Given the description of an element on the screen output the (x, y) to click on. 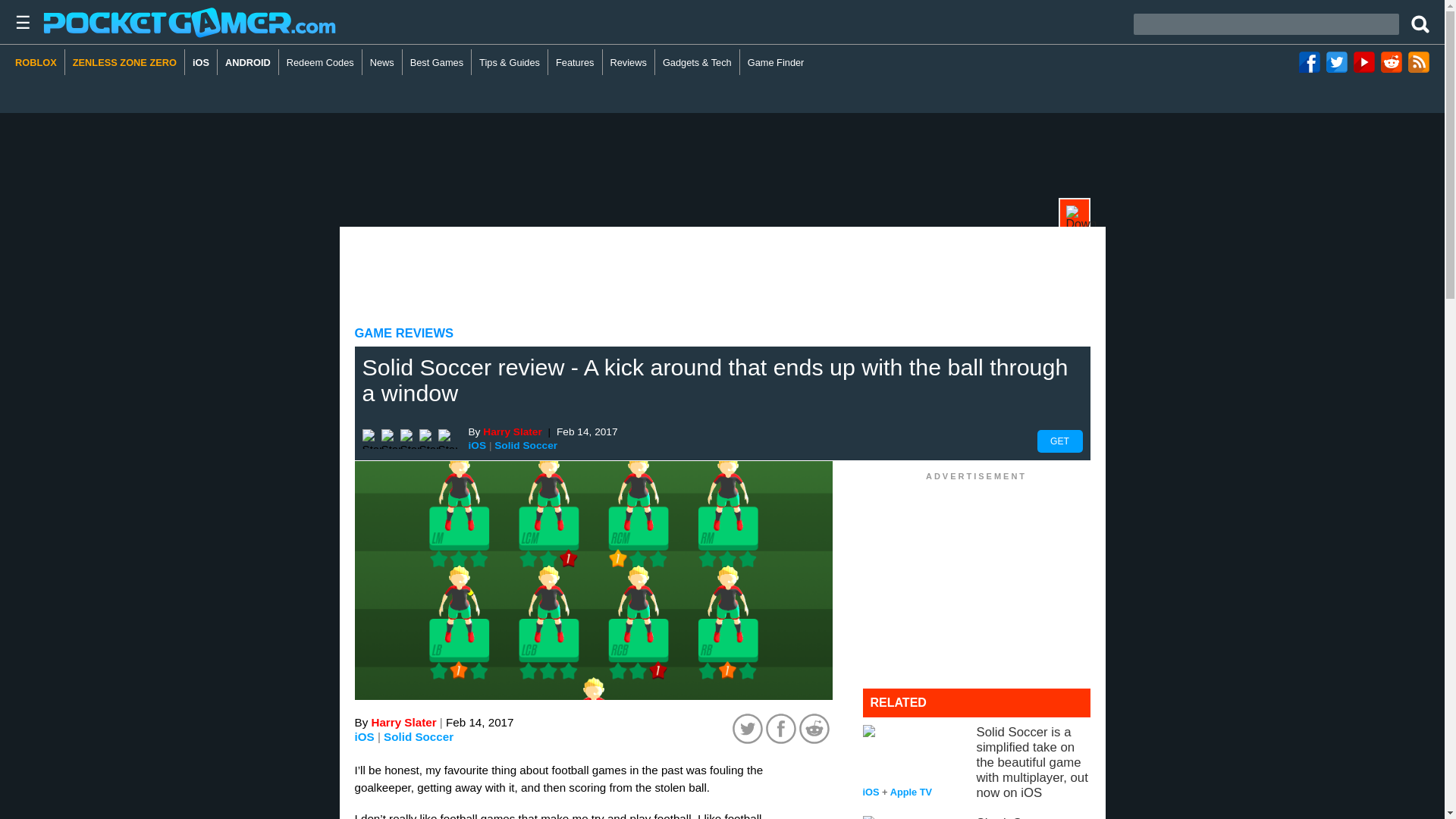
Solid Soccer (418, 736)
Best Games (437, 62)
News (382, 62)
Solid Soccer (526, 445)
iOS (477, 445)
Harry Slater (512, 431)
Game Finder (775, 62)
ZENLESS ZONE ZERO (124, 62)
ANDROID (247, 62)
GAME REVIEWS (404, 332)
